Given the description of an element on the screen output the (x, y) to click on. 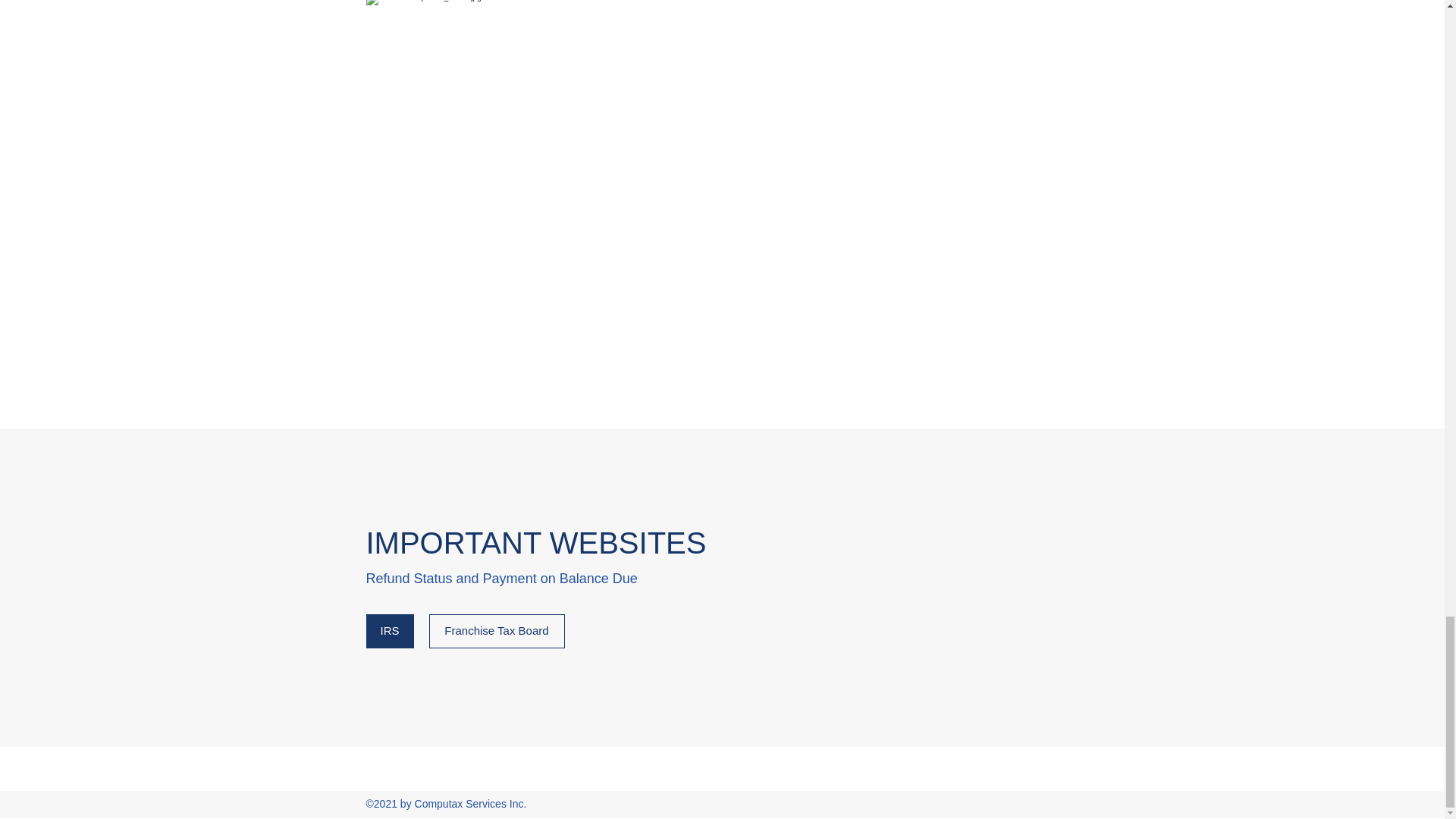
IRS (389, 631)
Franchise Tax Board (496, 631)
